Given the description of an element on the screen output the (x, y) to click on. 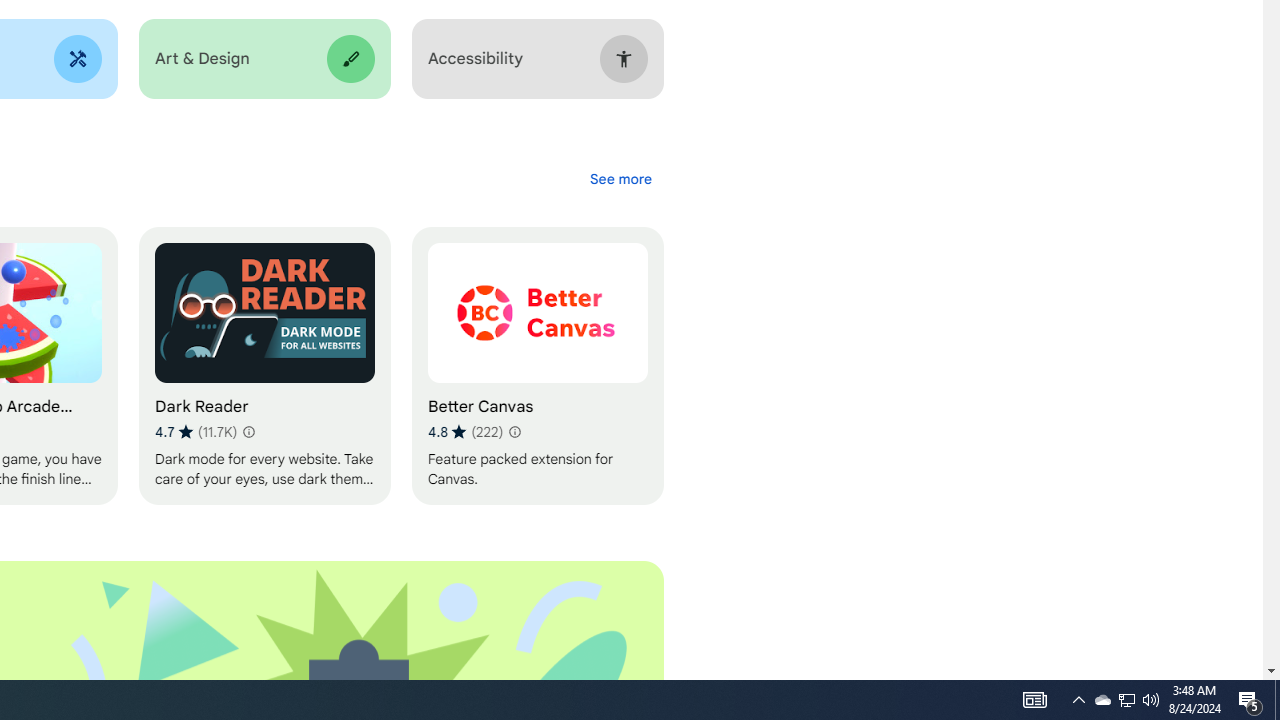
Average rating 4.8 out of 5 stars. 222 ratings. (465, 431)
Art & Design (264, 59)
Learn more about results and reviews "Better Canvas" (513, 431)
Dark Reader (264, 366)
Better Canvas (537, 366)
Average rating 4.7 out of 5 stars. 11.7K ratings. (195, 431)
See more personalized recommendations (620, 178)
Accessibility (537, 59)
Learn more about results and reviews "Dark Reader" (247, 431)
